Given the description of an element on the screen output the (x, y) to click on. 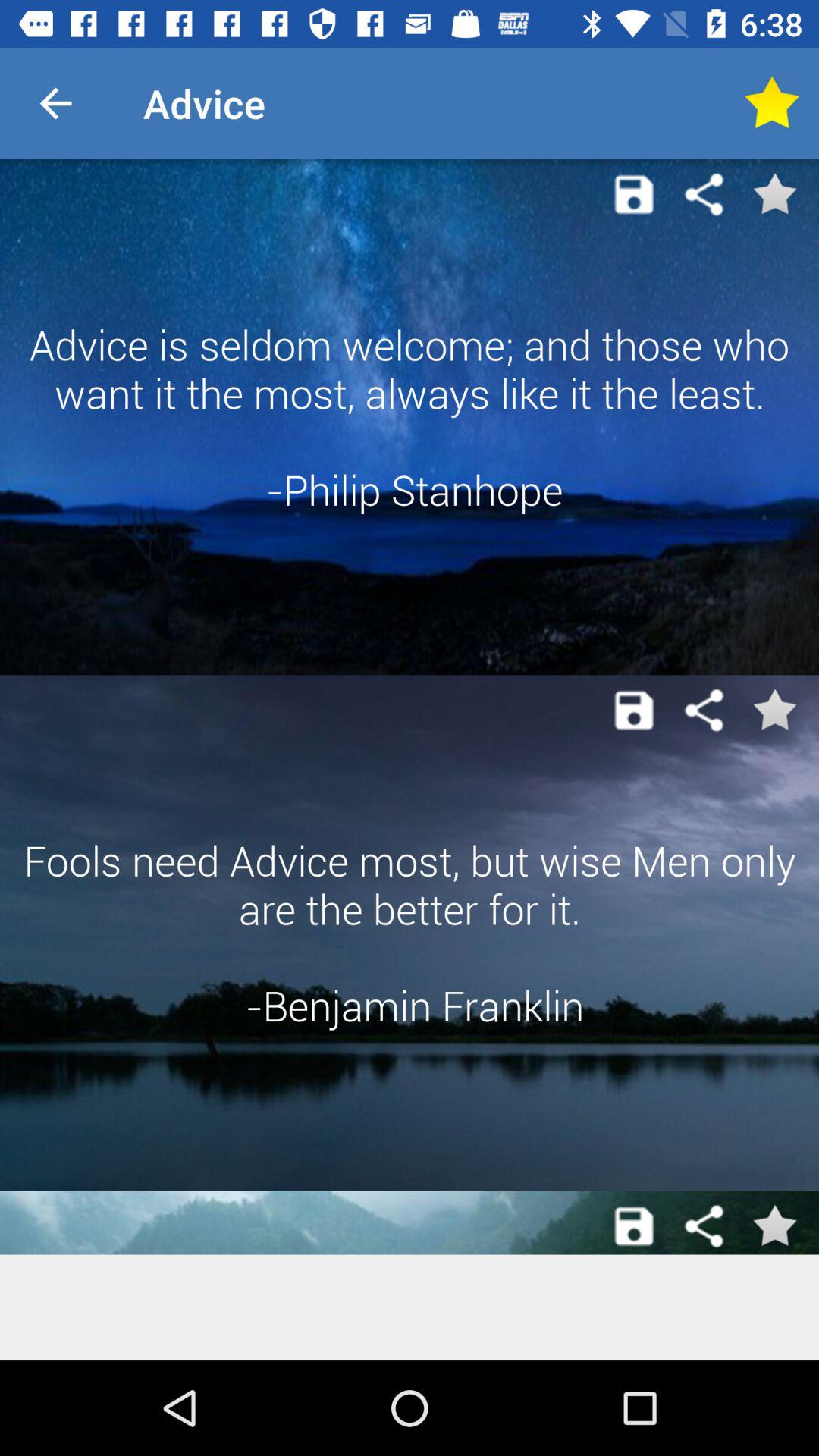
save this quote (774, 1226)
